Given the description of an element on the screen output the (x, y) to click on. 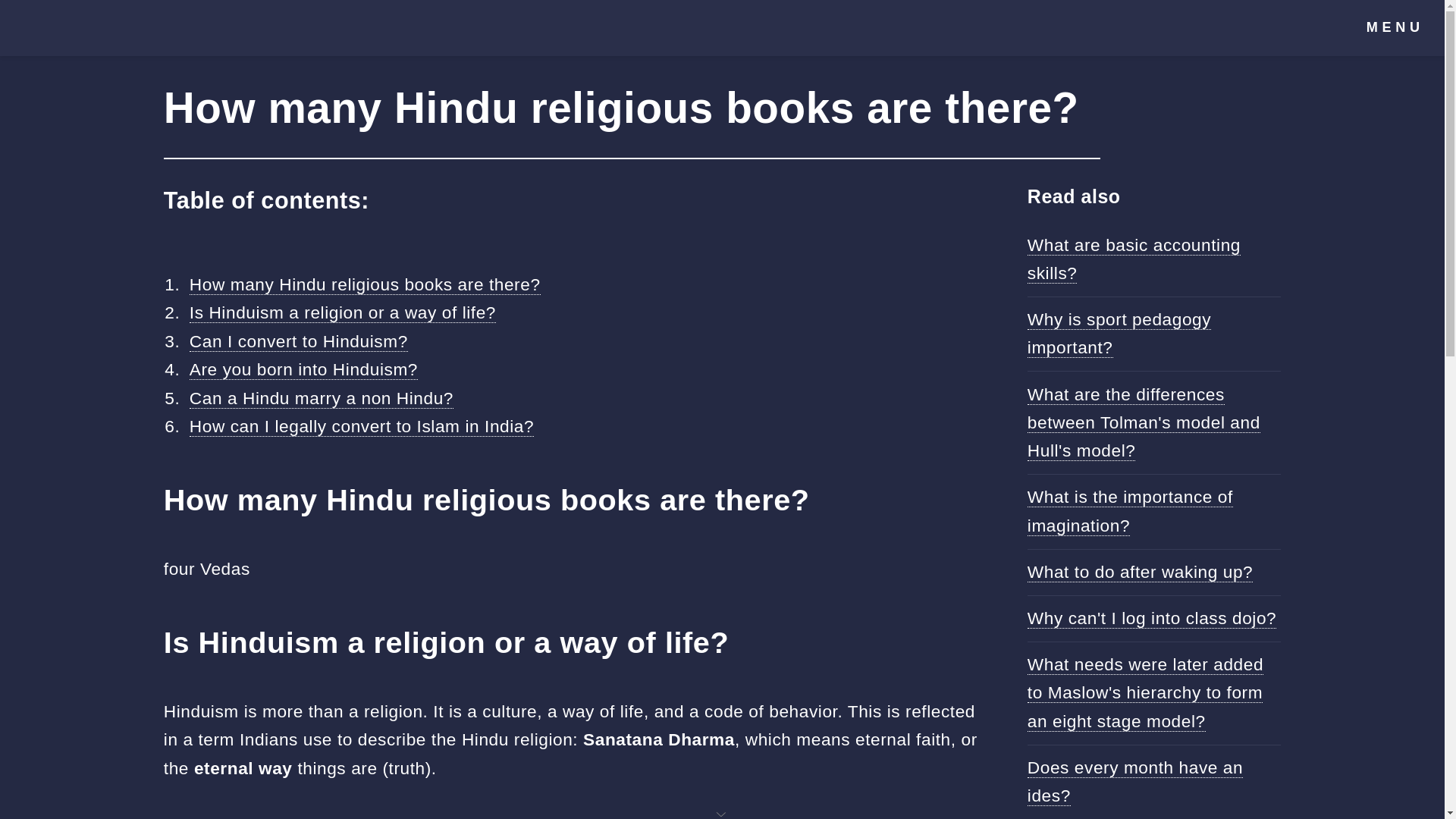
What to do after waking up? (1139, 571)
How many Hindu religious books are there? (364, 284)
How can I legally convert to Islam in India? (361, 426)
Why is sport pedagogy important? (1119, 333)
What is the importance of imagination? (1130, 510)
Ad.Plus Advertising (722, 813)
Are you born into Hinduism? (303, 369)
Does every month have an ides? (1135, 781)
Is Hinduism a religion or a way of life? (342, 312)
